Given the description of an element on the screen output the (x, y) to click on. 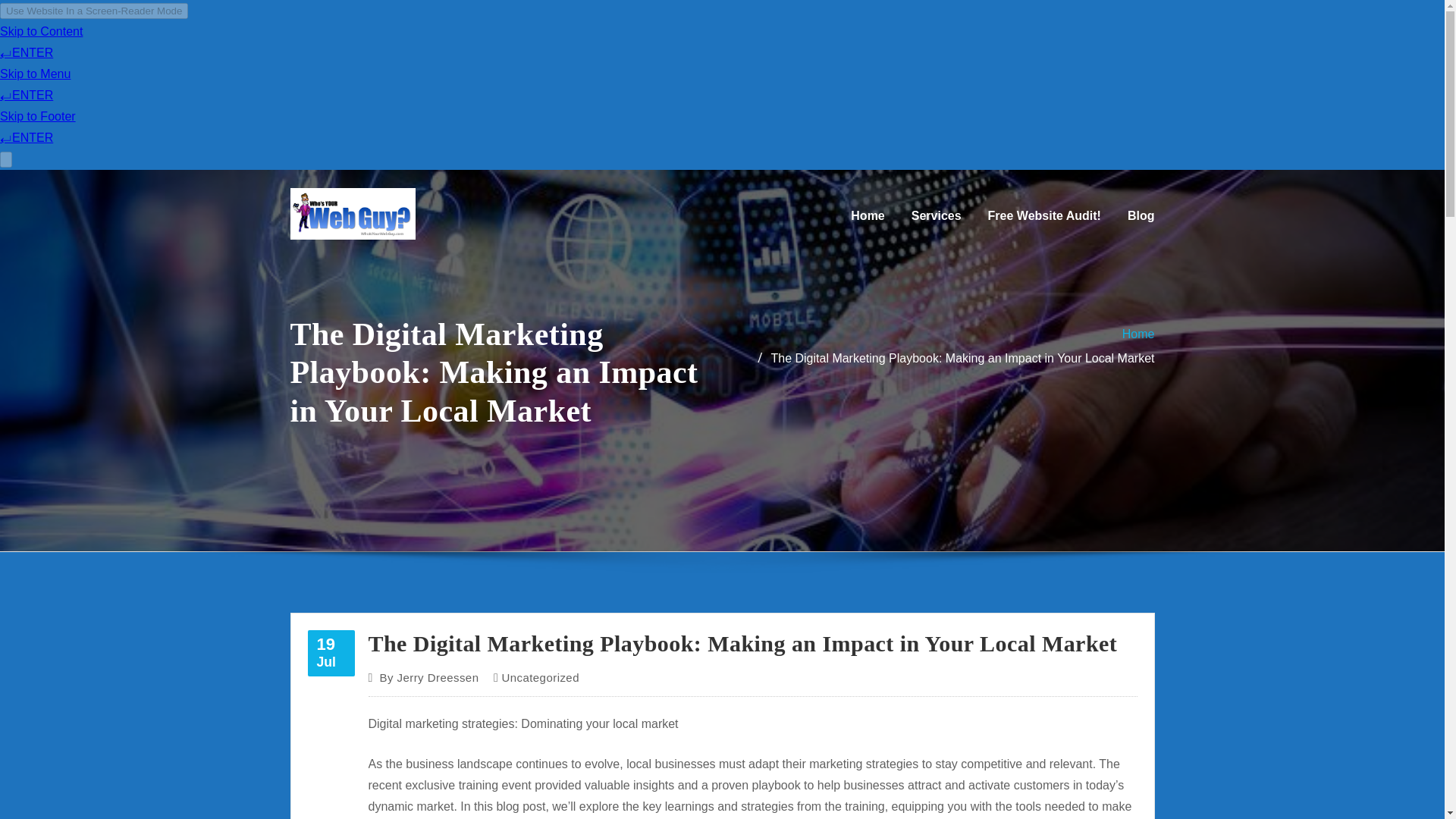
Blog (1140, 215)
By Jerry Dreessen (428, 677)
Home (866, 215)
Services (935, 215)
Free Website Audit! (1044, 215)
Home (1138, 333)
Uncategorized (330, 652)
